Given the description of an element on the screen output the (x, y) to click on. 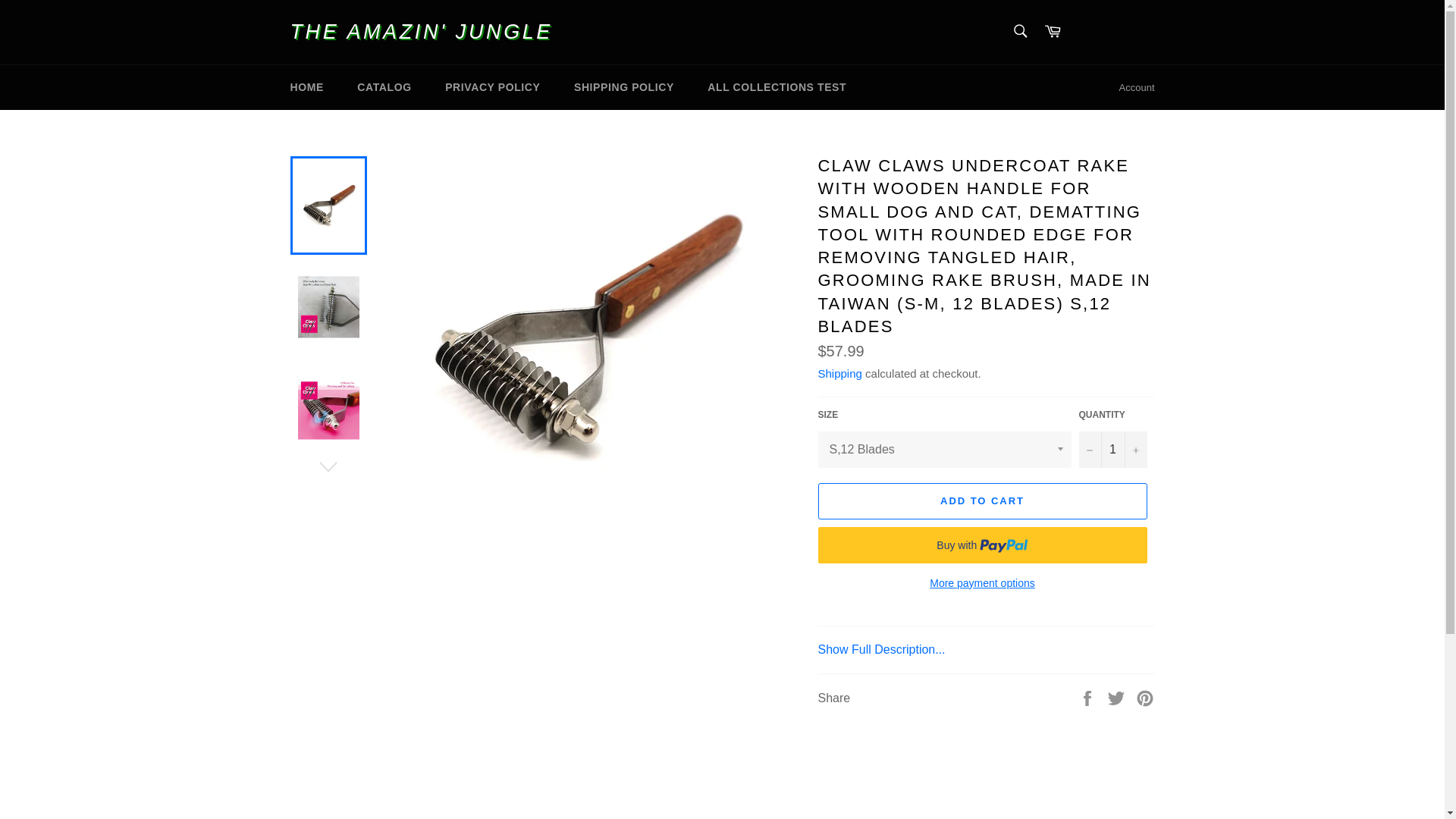
Share on Facebook (1088, 697)
PRIVACY POLICY (491, 87)
Tweet on Twitter (1117, 697)
1 (1112, 449)
Account (1136, 87)
Pin on Pinterest (1144, 697)
THE AMAZIN' JUNGLE (420, 31)
Search (1019, 30)
CATALOG (384, 87)
HOME (306, 87)
SHIPPING POLICY (623, 87)
ALL COLLECTIONS TEST (777, 87)
Cart (1052, 32)
